Given the description of an element on the screen output the (x, y) to click on. 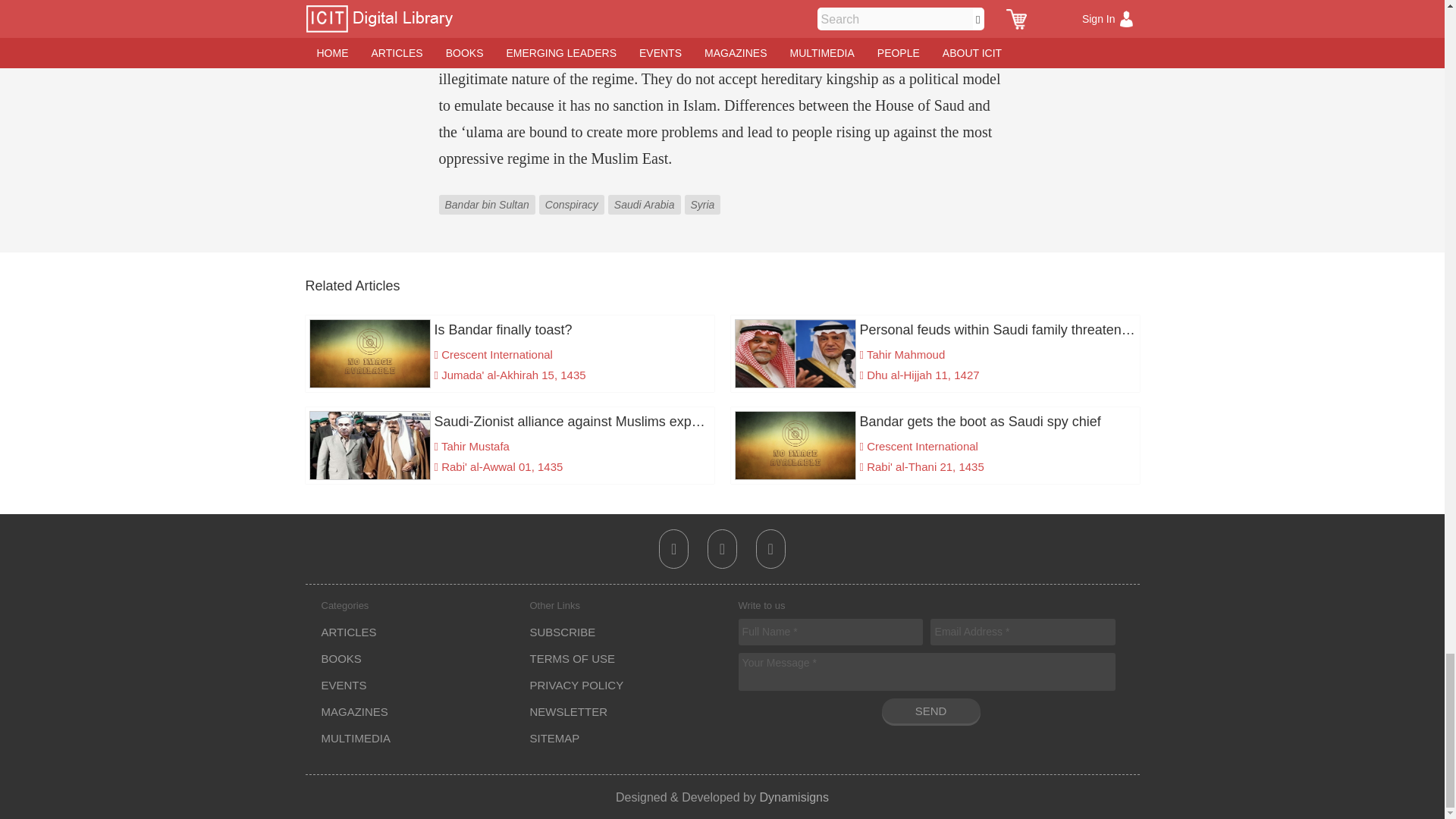
Tahir Mahmoud (905, 354)
Tahir Mustafa (475, 445)
Is Bandar finally toast? (509, 329)
Web designing firm (793, 796)
Syria (703, 193)
Crescent International (922, 445)
Saudi Arabia (646, 193)
Bandar bin Sultan (488, 193)
Crescent International (497, 354)
Saudi-Zionist alliance against Muslims exposed (509, 421)
Bandar gets the boot as Saudi spy chief (934, 421)
Bandar gets the boot as Saudi spy chief (934, 421)
Saudi-Zionist alliance against Muslims exposed (509, 421)
Conspiracy (573, 193)
Is Bandar finally toast? (509, 329)
